Given the description of an element on the screen output the (x, y) to click on. 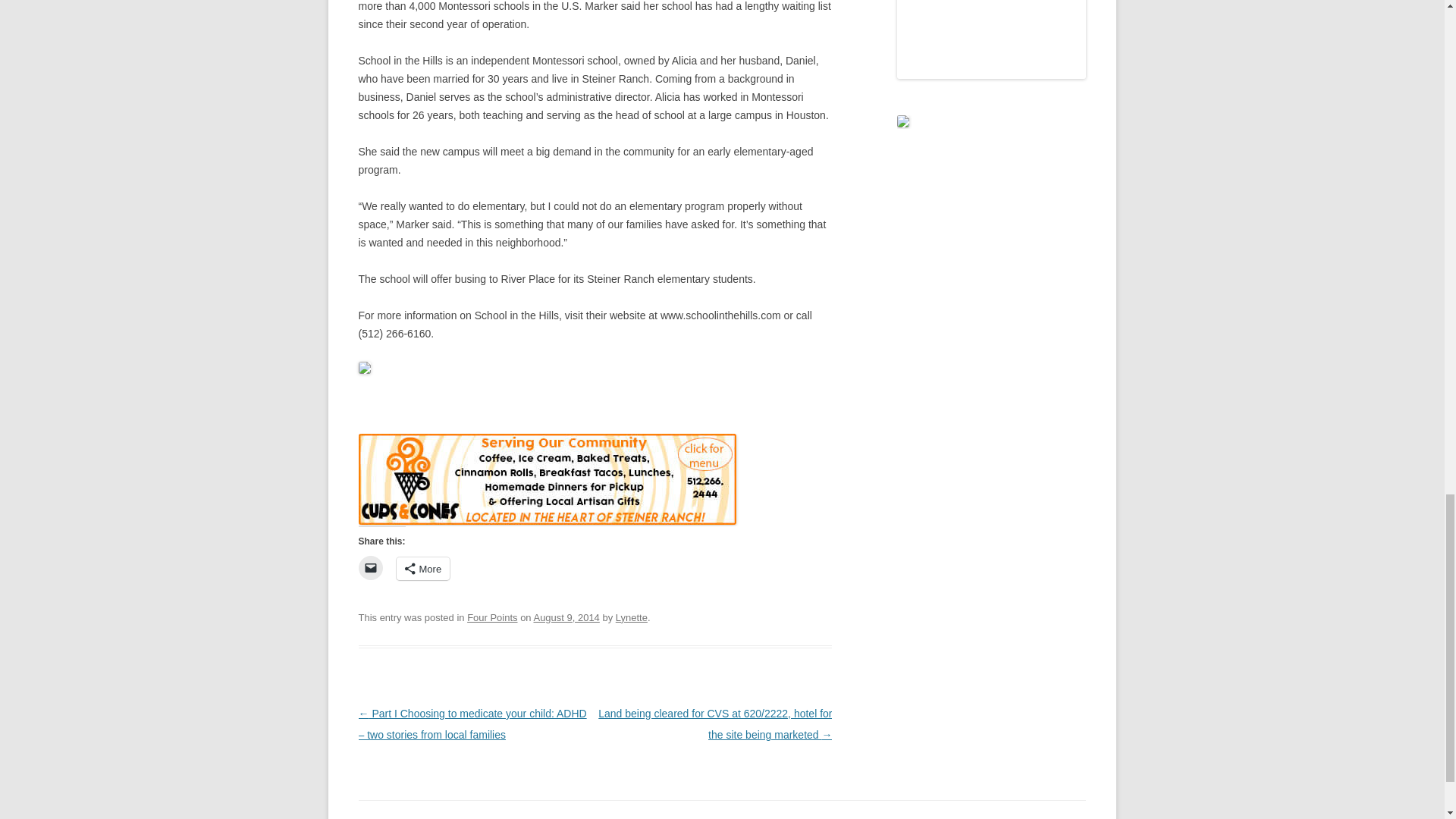
More (422, 568)
Lynette (631, 617)
View all posts by Lynette (631, 617)
August 9, 2014 (565, 617)
Four Points (491, 617)
Click to email a link to a friend (369, 567)
8:20 am (565, 617)
